Given the description of an element on the screen output the (x, y) to click on. 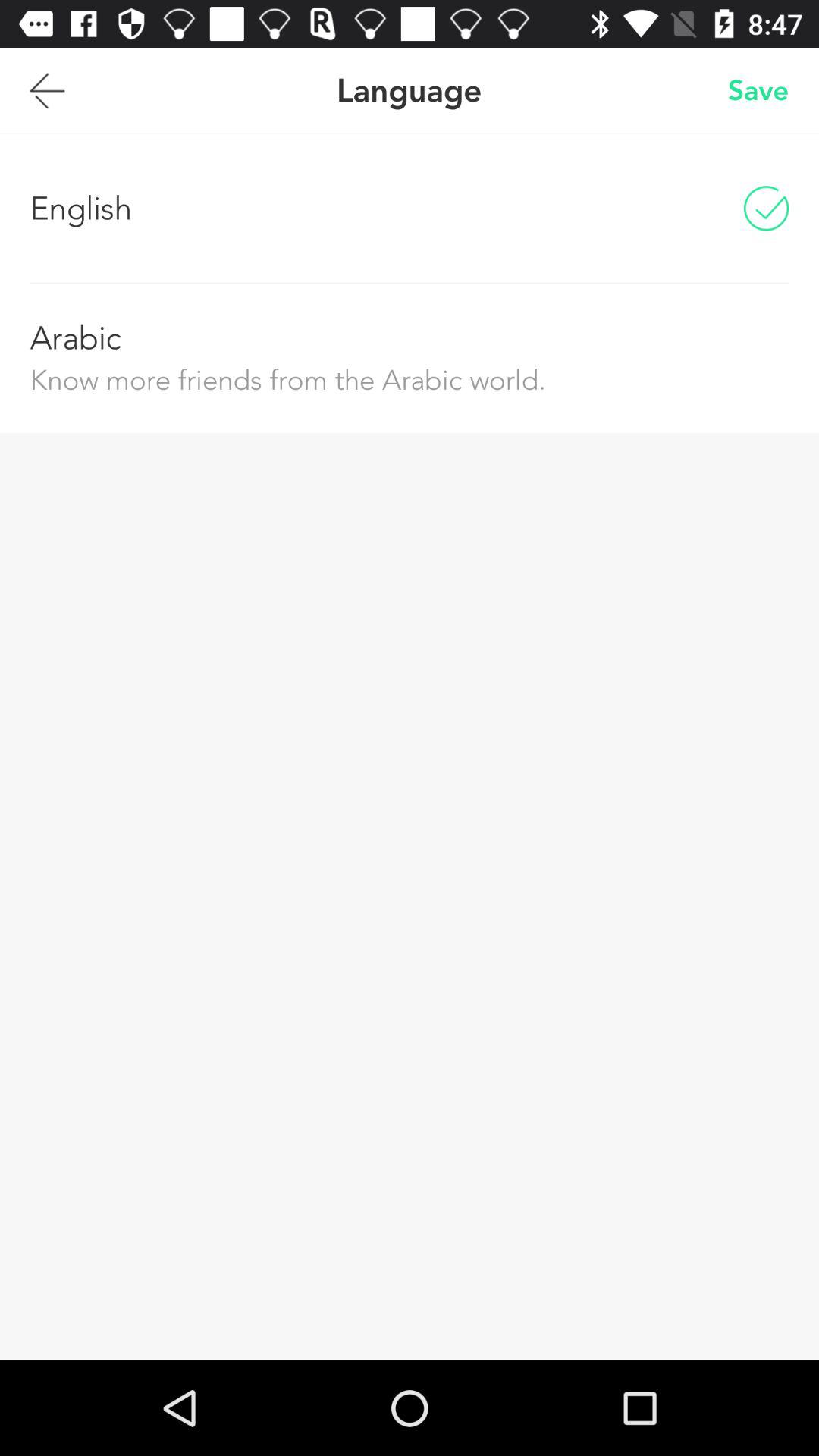
press icon to the left of language item (47, 90)
